Given the description of an element on the screen output the (x, y) to click on. 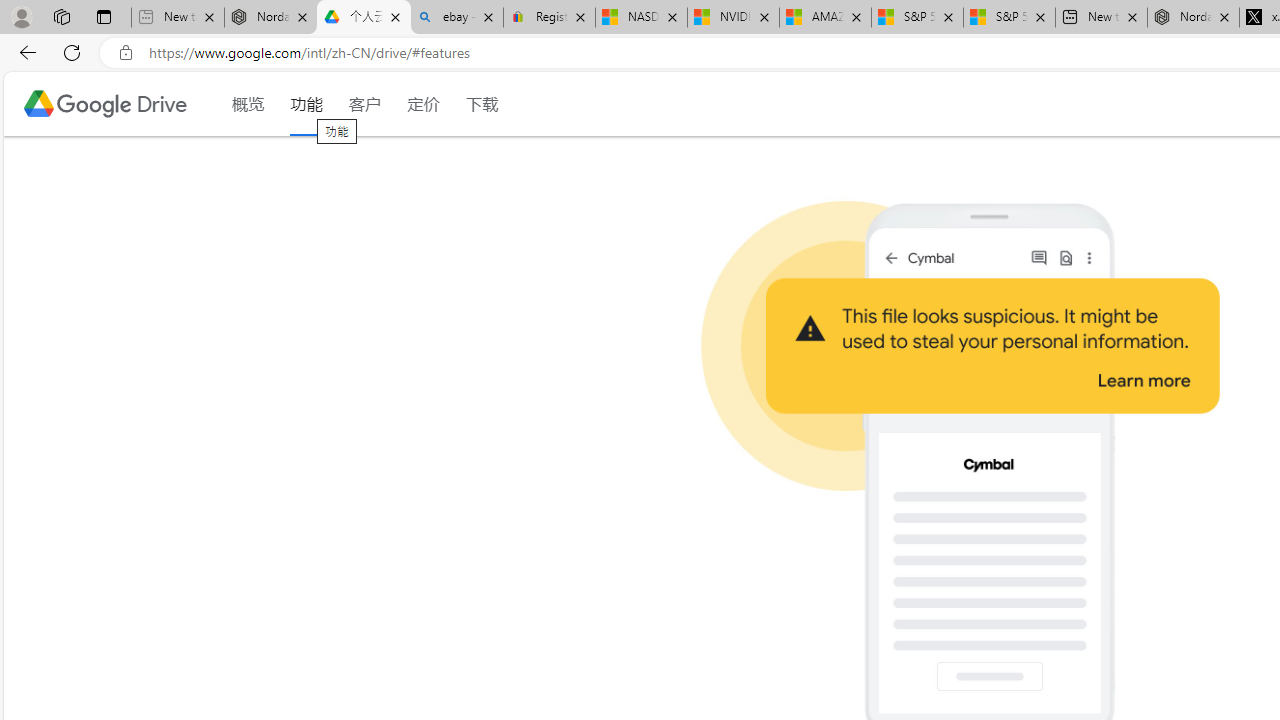
Register: Create a personal eBay account (549, 17)
